Given the description of an element on the screen output the (x, y) to click on. 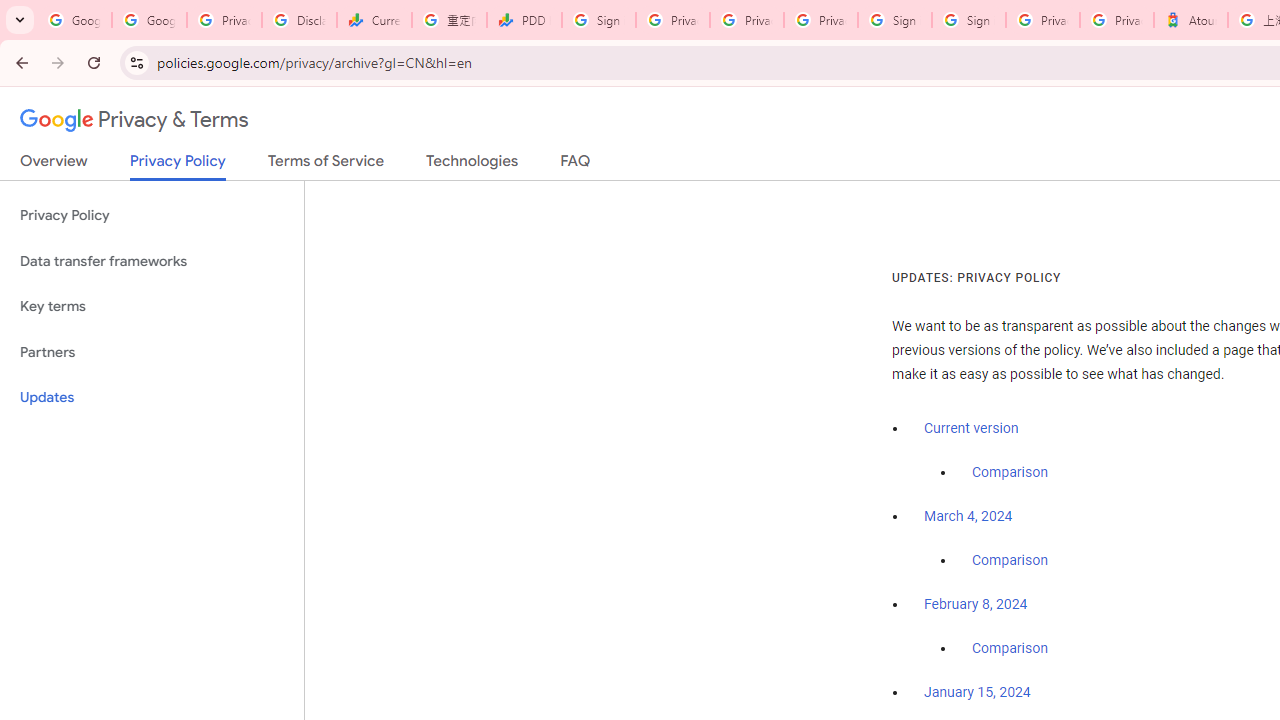
March 4, 2024 (968, 517)
Comparison (1009, 649)
Currencies - Google Finance (374, 20)
FAQ (575, 165)
View site information (136, 62)
